Given the description of an element on the screen output the (x, y) to click on. 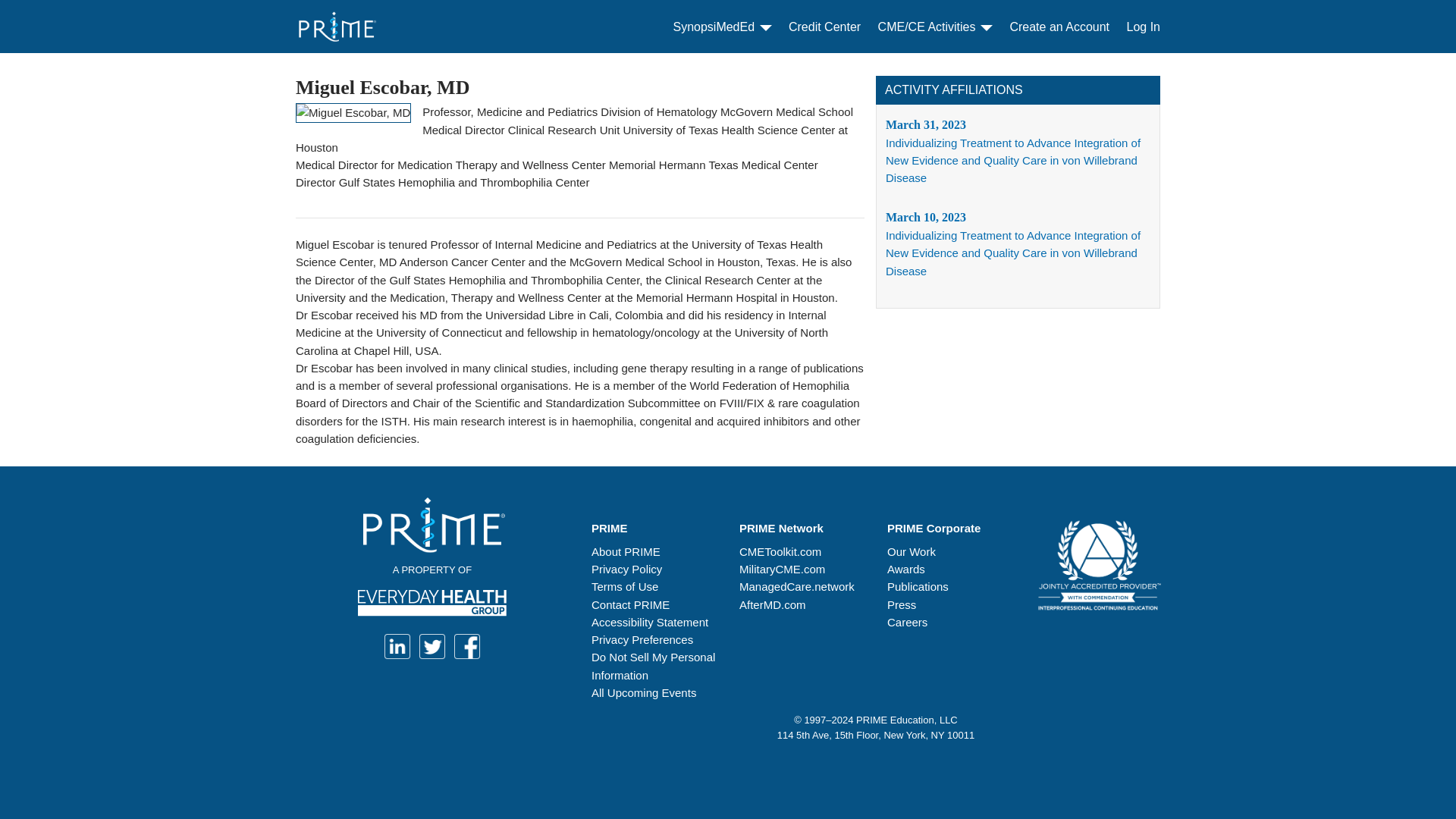
Log In (1143, 26)
Return to home page (357, 26)
SynopsiMedEd (721, 26)
Create an Account (1059, 26)
Credit Center (824, 26)
